Given the description of an element on the screen output the (x, y) to click on. 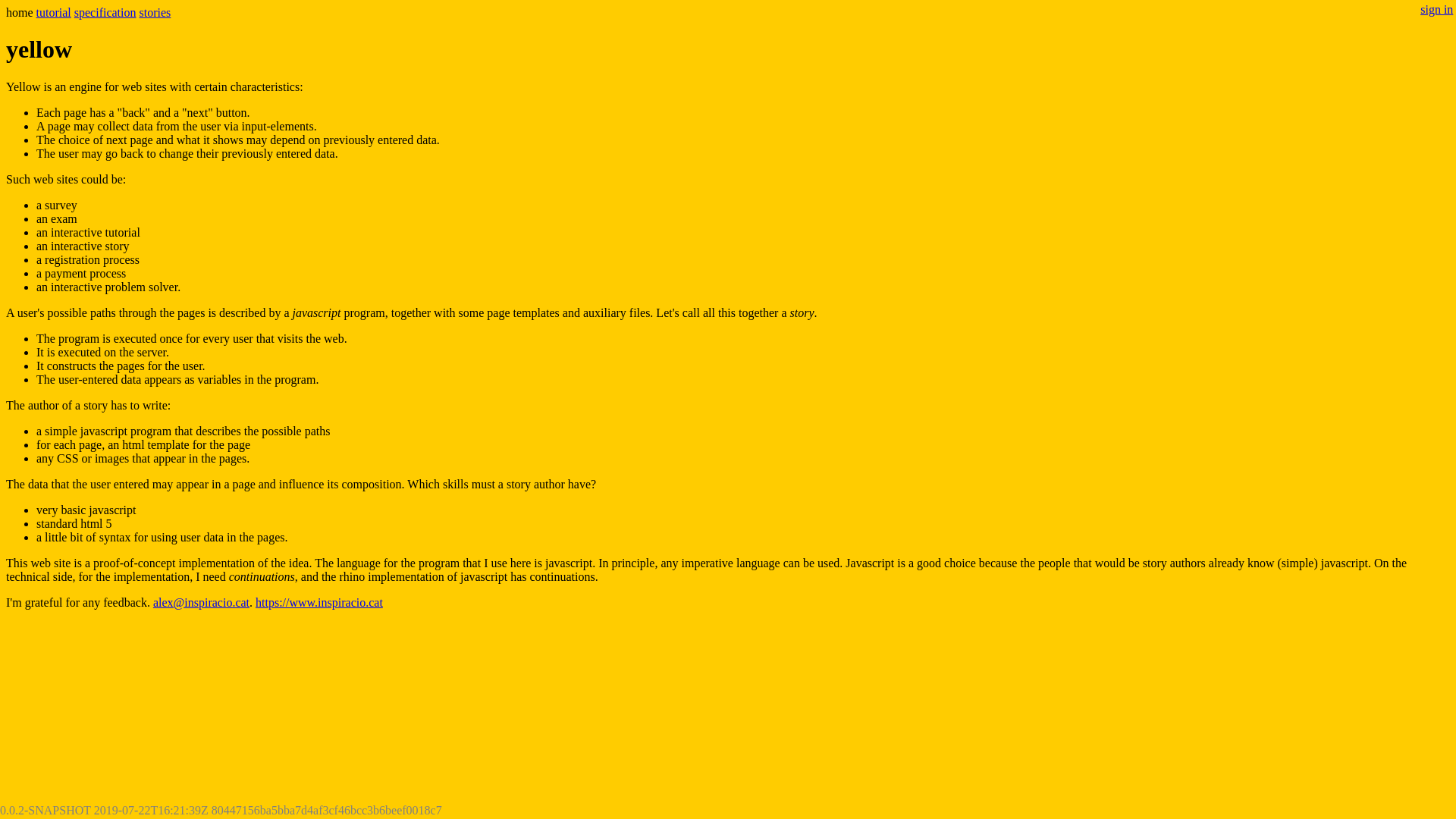
tutorial Element type: text (53, 12)
specification Element type: text (105, 12)
sign in Element type: text (1436, 9)
home Element type: text (19, 12)
stories Element type: text (155, 12)
alex@inspiracio.cat Element type: text (201, 602)
https://www.inspiracio.cat Element type: text (318, 602)
